Given the description of an element on the screen output the (x, y) to click on. 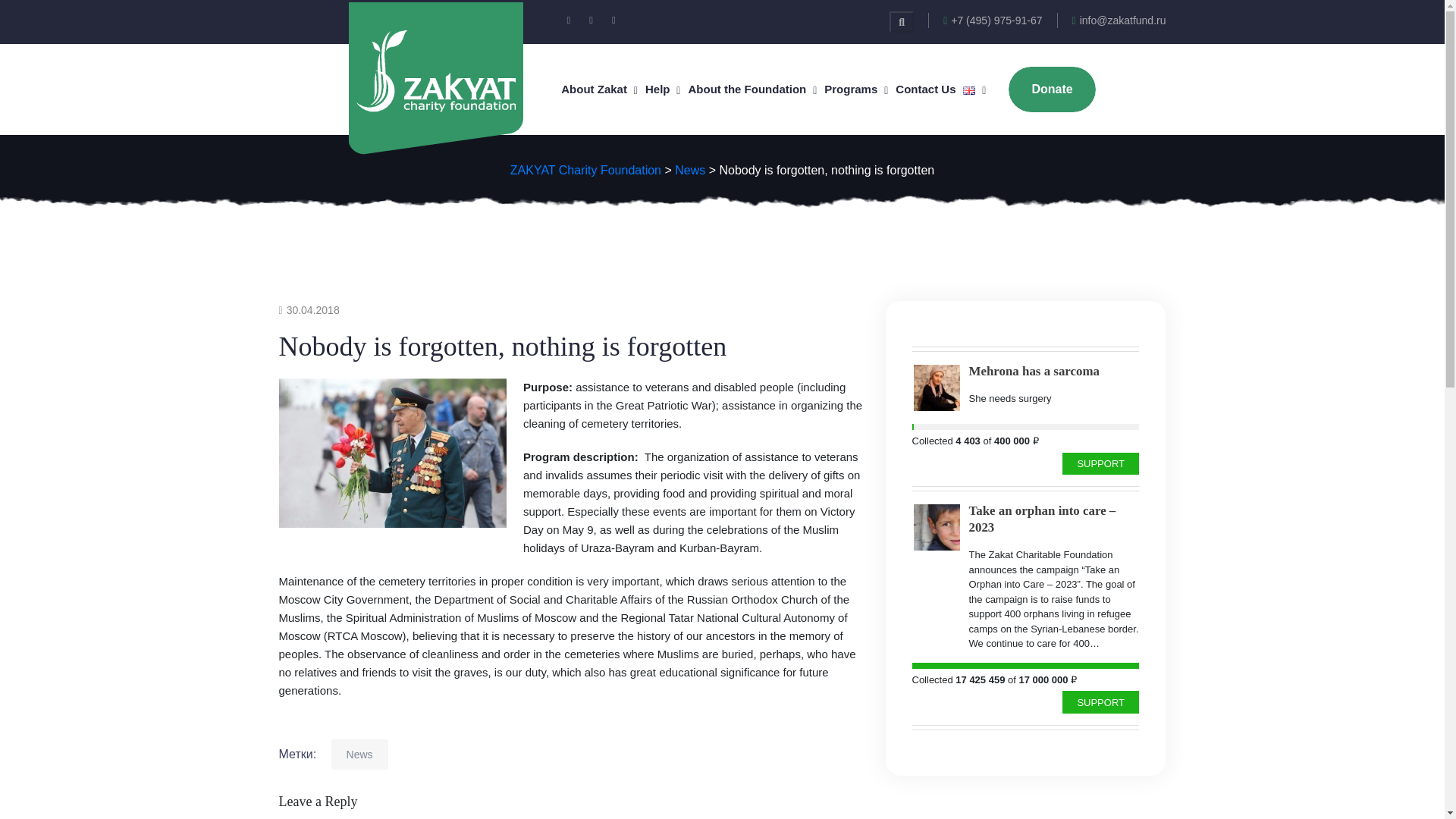
About the Foundation (746, 89)
Programs (850, 89)
Go to the News Category archives. (689, 169)
Go to ZAKYAT Charity Foundation. (586, 169)
Donate (1051, 89)
About Zakat (593, 89)
Contact Us (925, 89)
Help (657, 89)
